Given the description of an element on the screen output the (x, y) to click on. 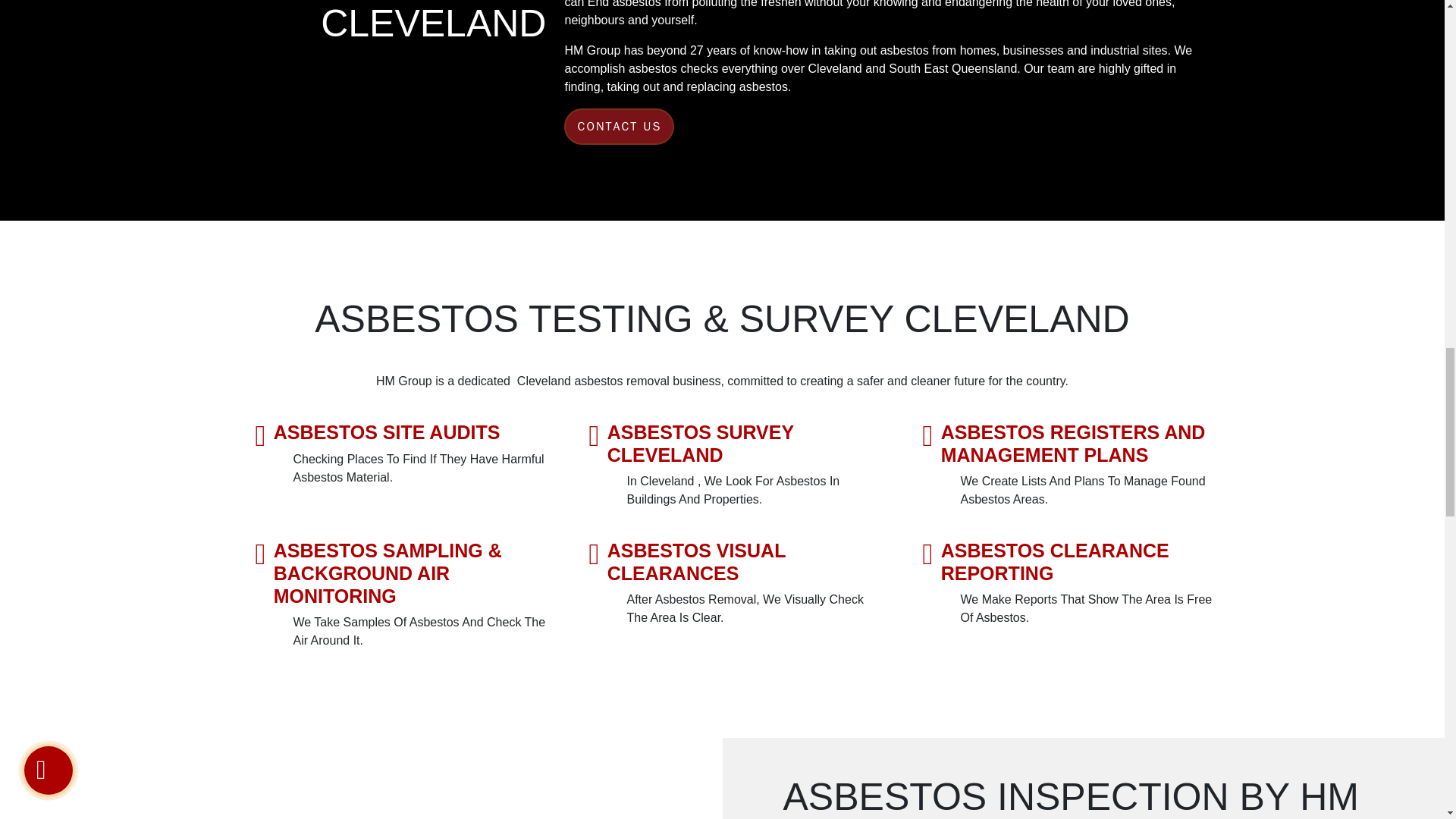
CONTACT US (619, 126)
CONTACT US (619, 126)
